Given the description of an element on the screen output the (x, y) to click on. 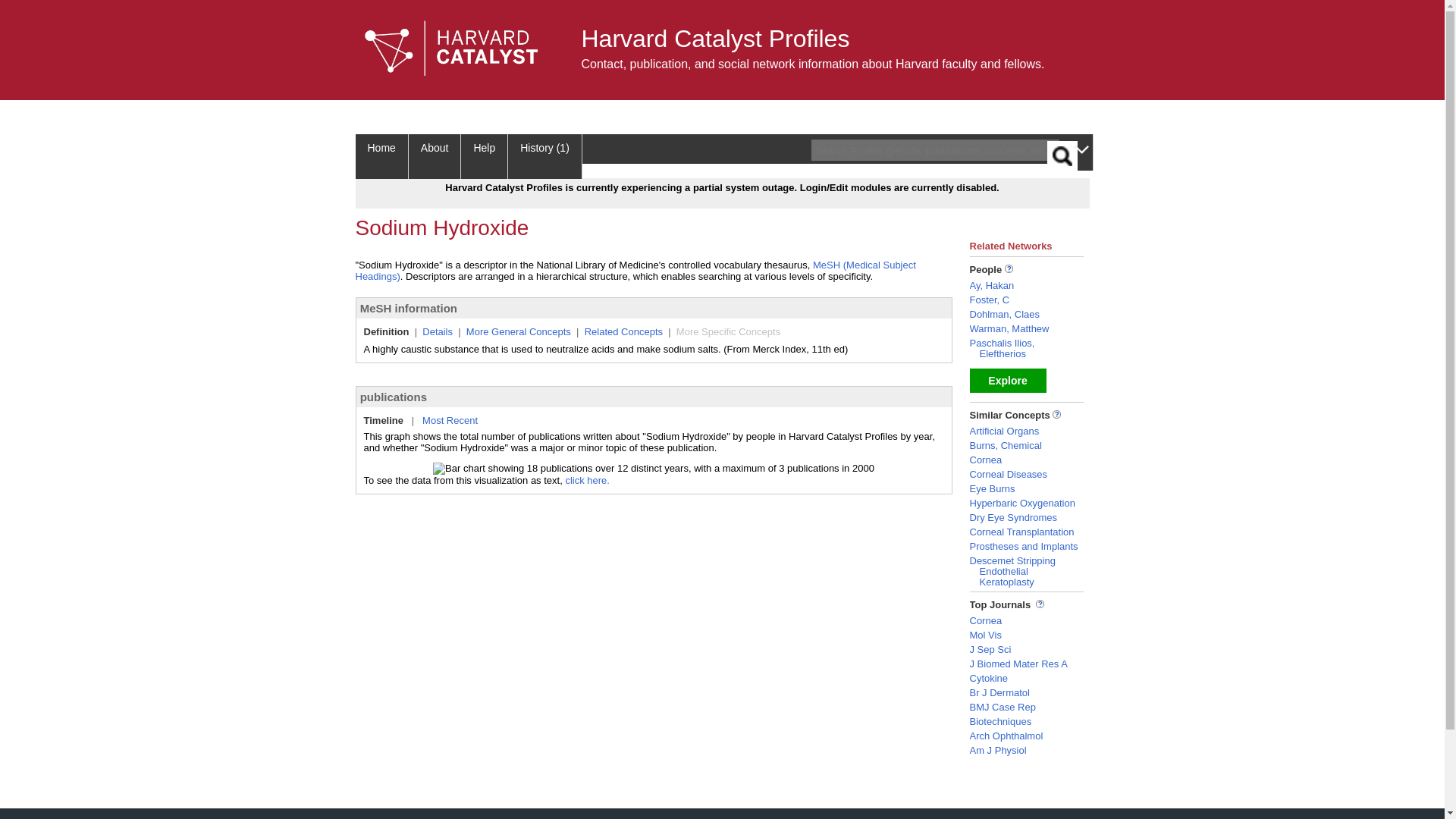
Home (381, 156)
MeSH information (408, 308)
Help (484, 156)
More Specific Concepts (728, 331)
Related Concepts (623, 331)
About (435, 156)
Definition (386, 331)
More General Concepts (517, 331)
Details (437, 331)
View Harvard Catalyst Homepage (451, 49)
